Given the description of an element on the screen output the (x, y) to click on. 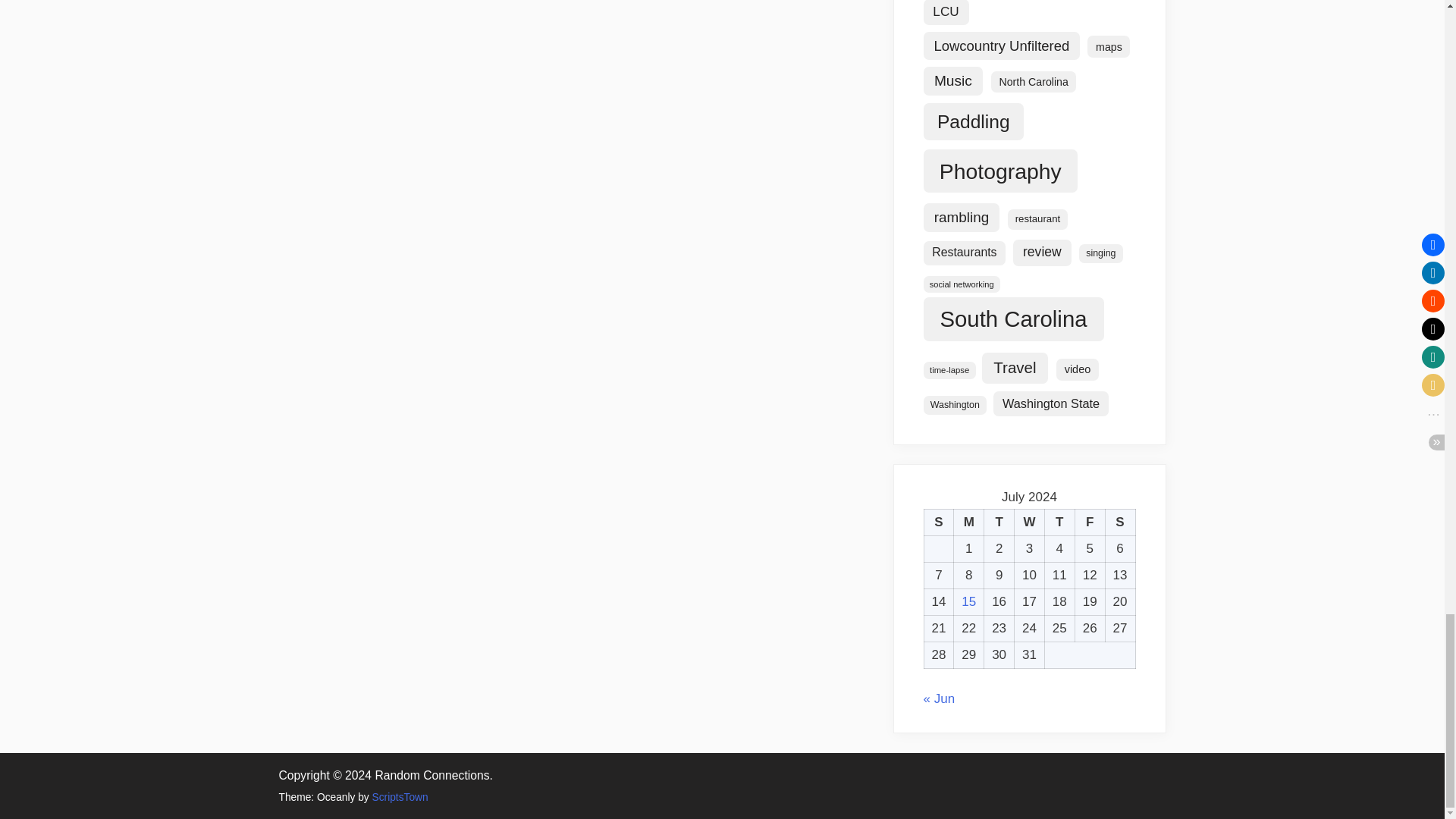
Tuesday (999, 522)
Sunday (938, 522)
Friday (1089, 522)
Thursday (1058, 522)
Saturday (1120, 522)
Monday (968, 522)
Wednesday (1029, 522)
